Given the description of an element on the screen output the (x, y) to click on. 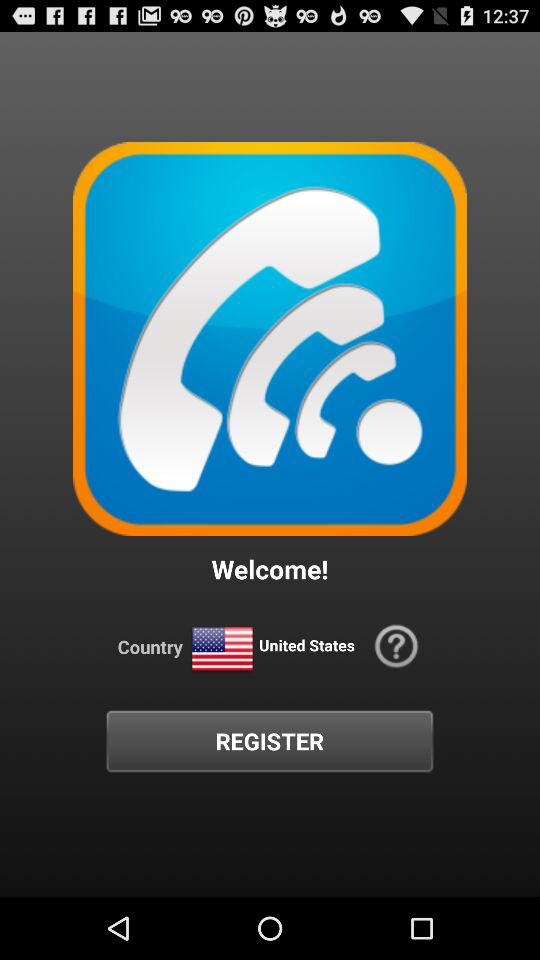
click the item next to the united states app (396, 646)
